Given the description of an element on the screen output the (x, y) to click on. 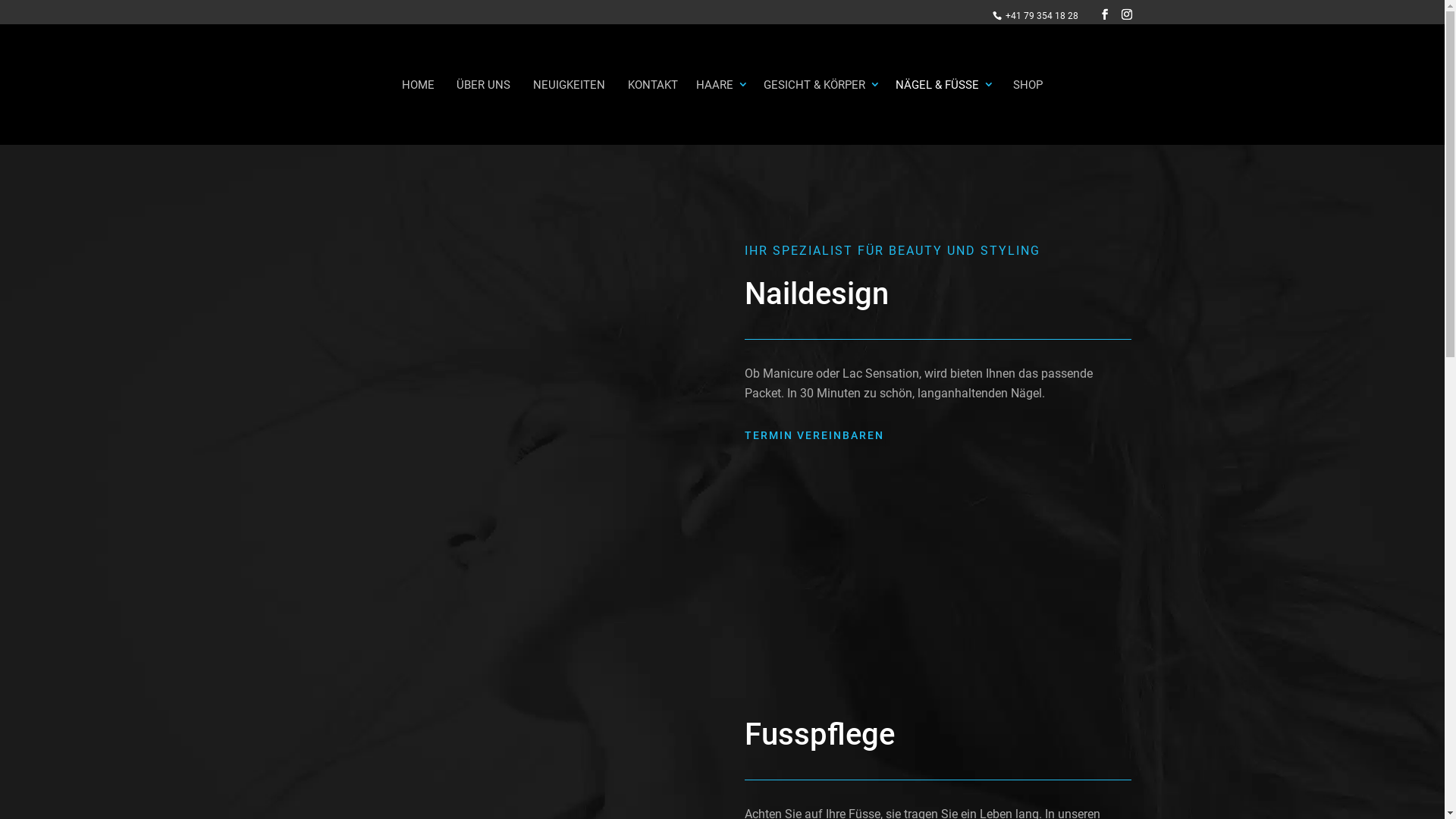
NEUIGKEITEN Element type: text (569, 110)
HOME Element type: text (418, 110)
HAARE Element type: text (722, 111)
TERMIN VEREINBAREN Element type: text (814, 437)
SHOP Element type: text (1027, 110)
KONTAKT Element type: text (652, 110)
